Given the description of an element on the screen output the (x, y) to click on. 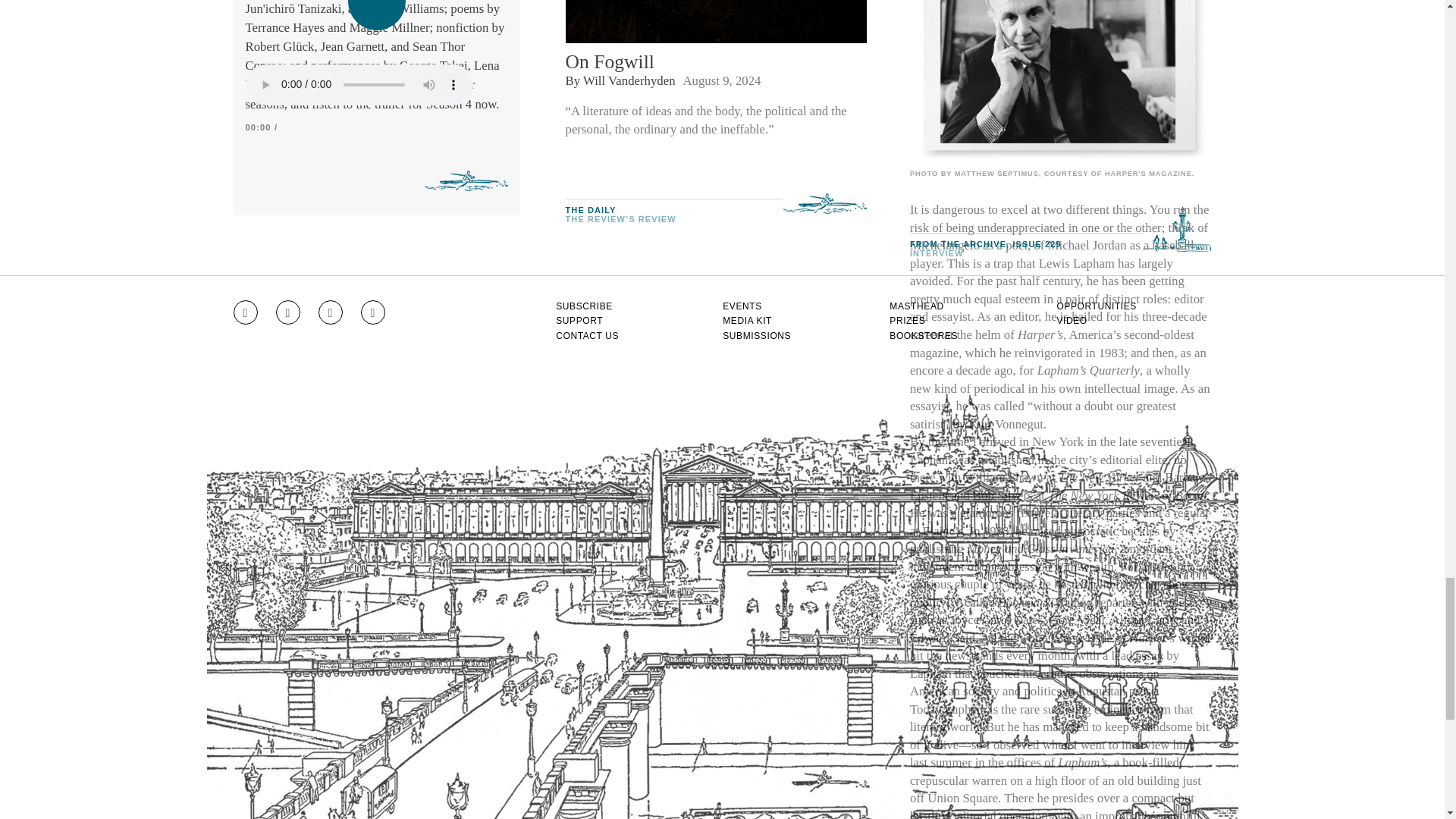
Go to Facebook page (287, 312)
Go to Instagram feed (244, 312)
undefined (1060, 81)
Go to RSS feed (373, 312)
Go to Twitter feed (330, 312)
